Given the description of an element on the screen output the (x, y) to click on. 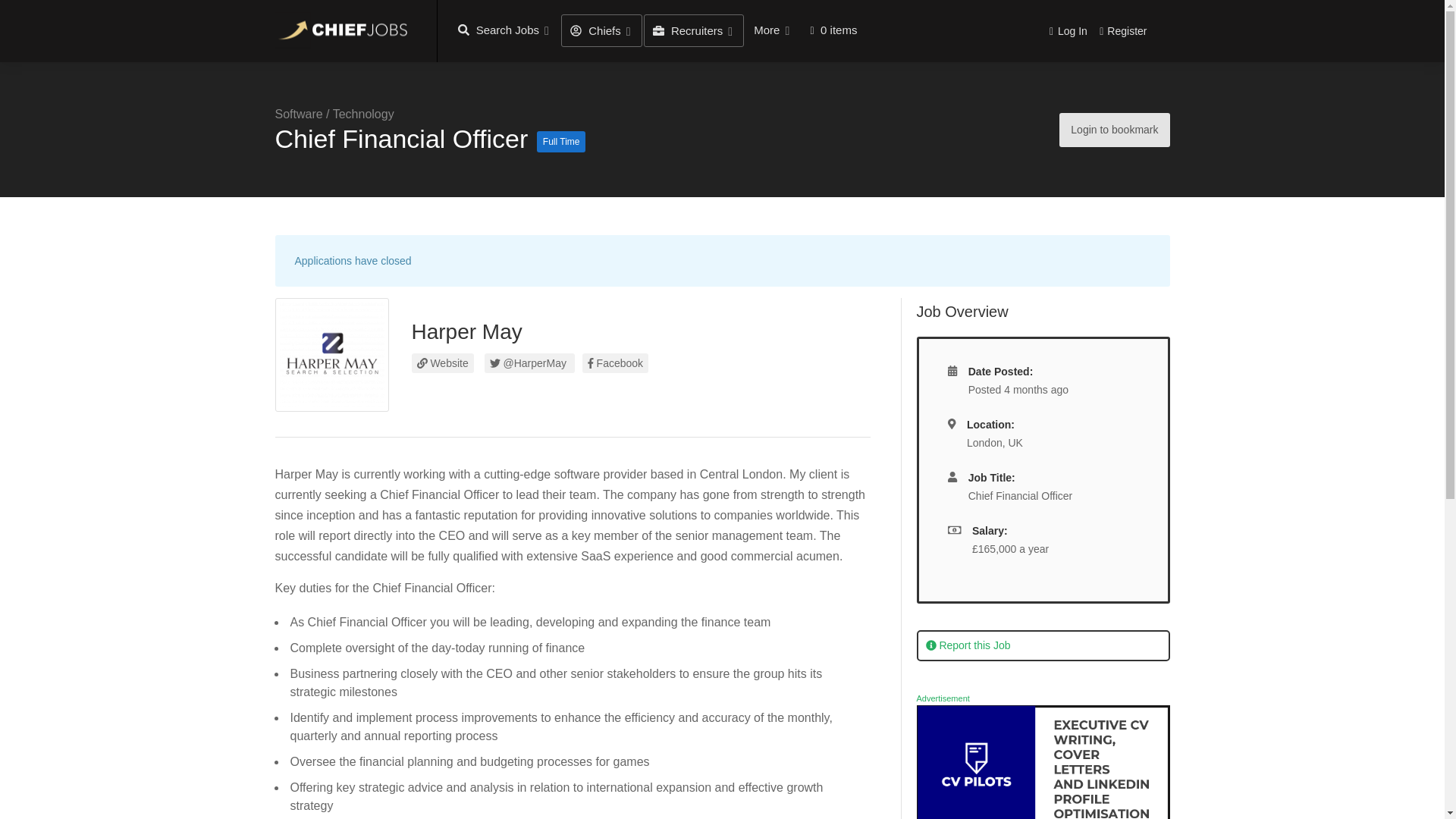
Start shopping (833, 29)
